Given the description of an element on the screen output the (x, y) to click on. 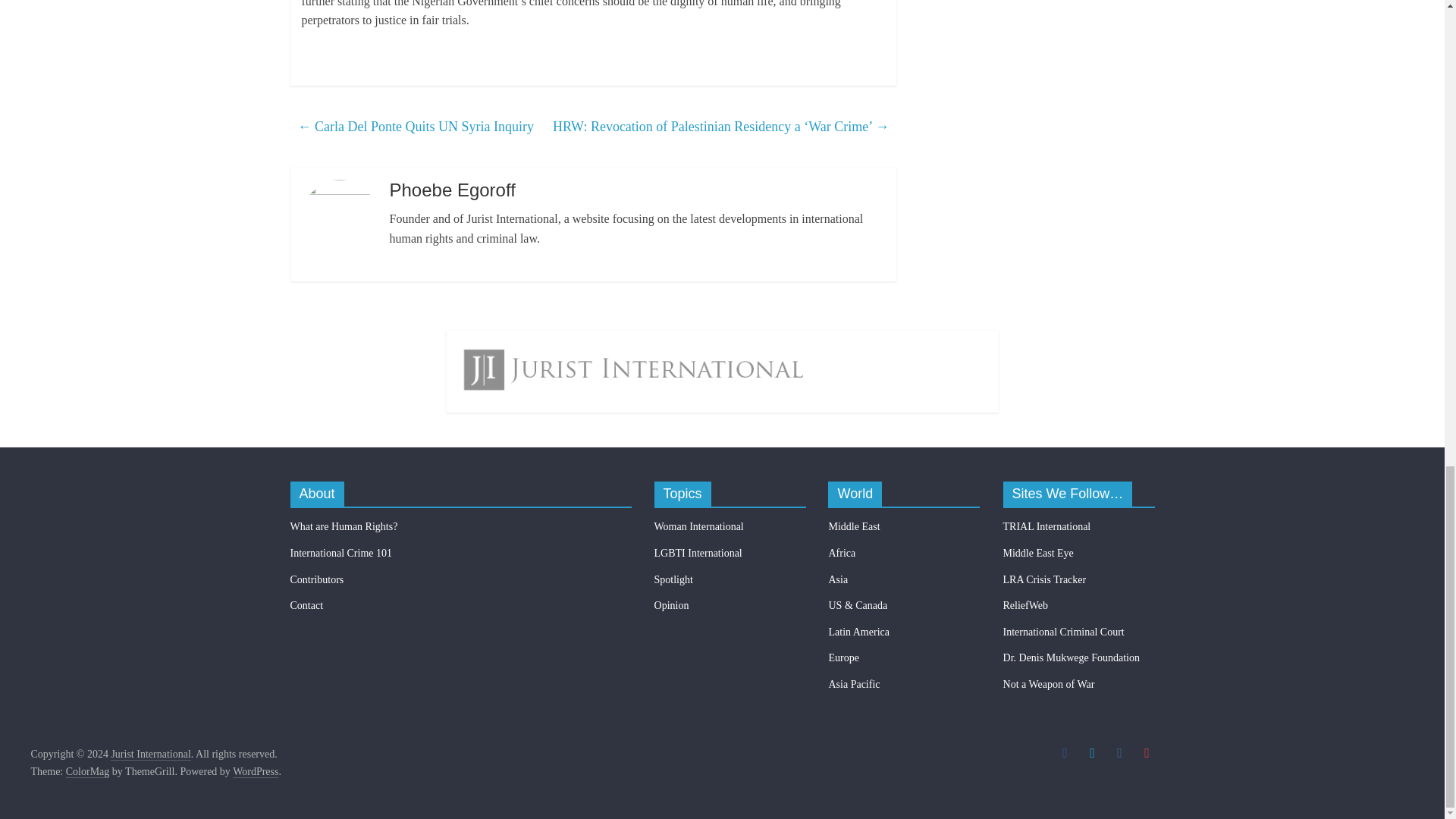
Jurist International (150, 754)
WordPress (255, 771)
ColorMag (87, 771)
